Given the description of an element on the screen output the (x, y) to click on. 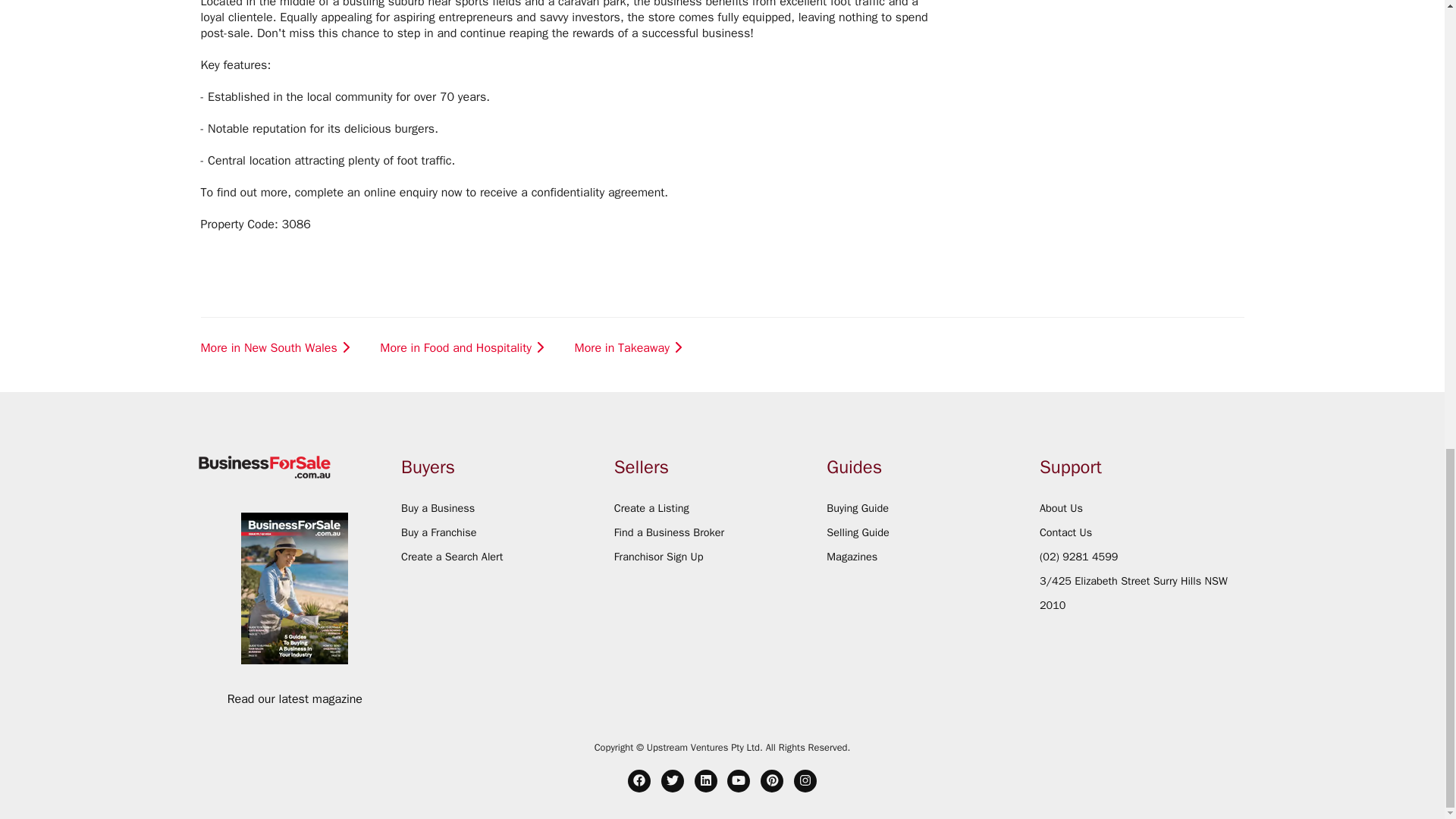
More in New South Wales (276, 449)
More in Food and Hospitality (463, 449)
More in Takeaway (630, 449)
